Given the description of an element on the screen output the (x, y) to click on. 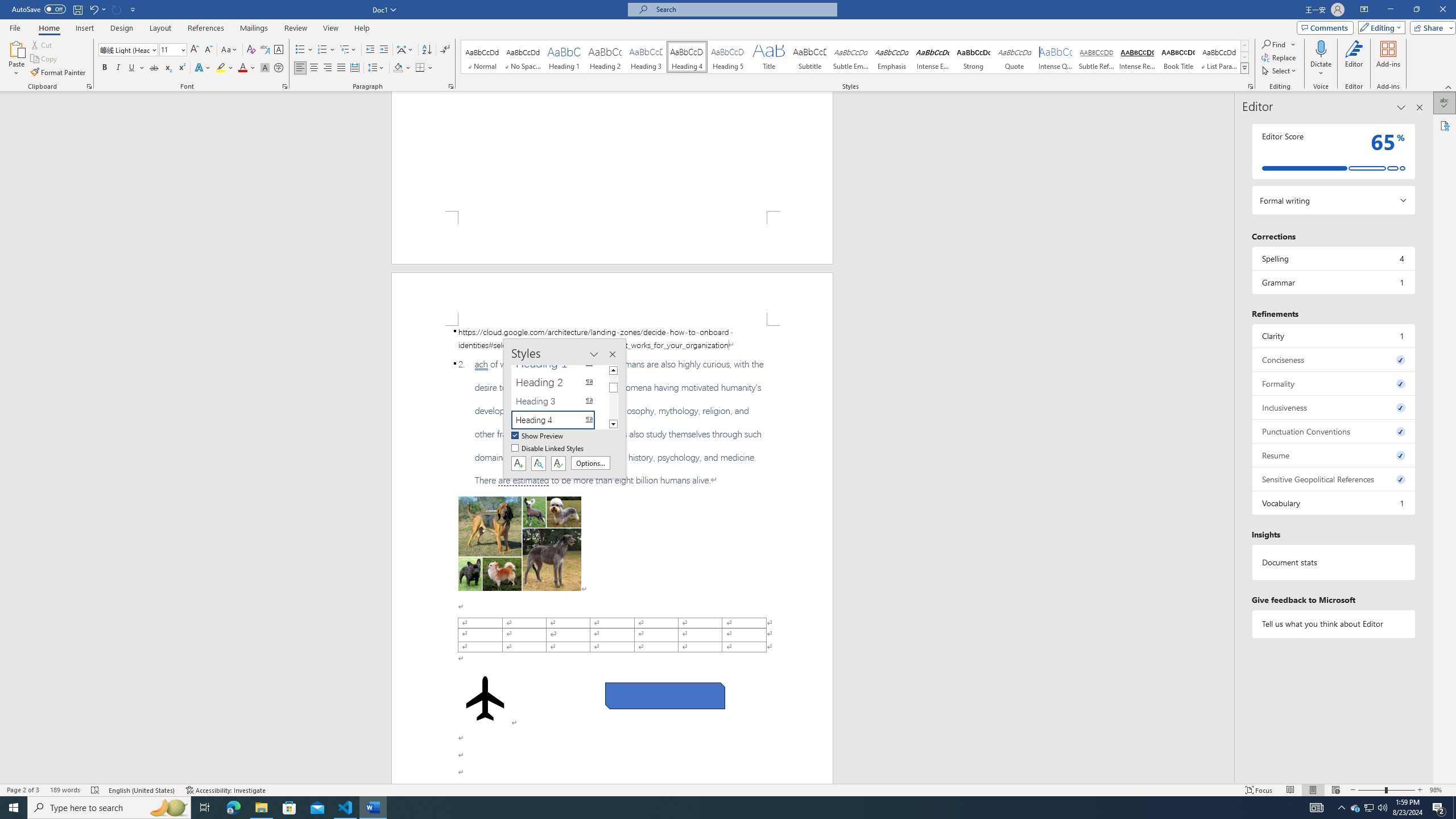
Conciseness, 0 issues. Press space or enter to review items. (1333, 359)
Shading (402, 67)
Read Mode (1290, 790)
Rectangle: Diagonal Corners Snipped 2 (665, 695)
Review (295, 28)
Font Size (172, 49)
Book Title (1177, 56)
Disable Linked Styles (548, 448)
Show/Hide Editing Marks (444, 49)
Center (313, 67)
Editor (1444, 102)
Microsoft search (742, 9)
Paste (16, 48)
